Given the description of an element on the screen output the (x, y) to click on. 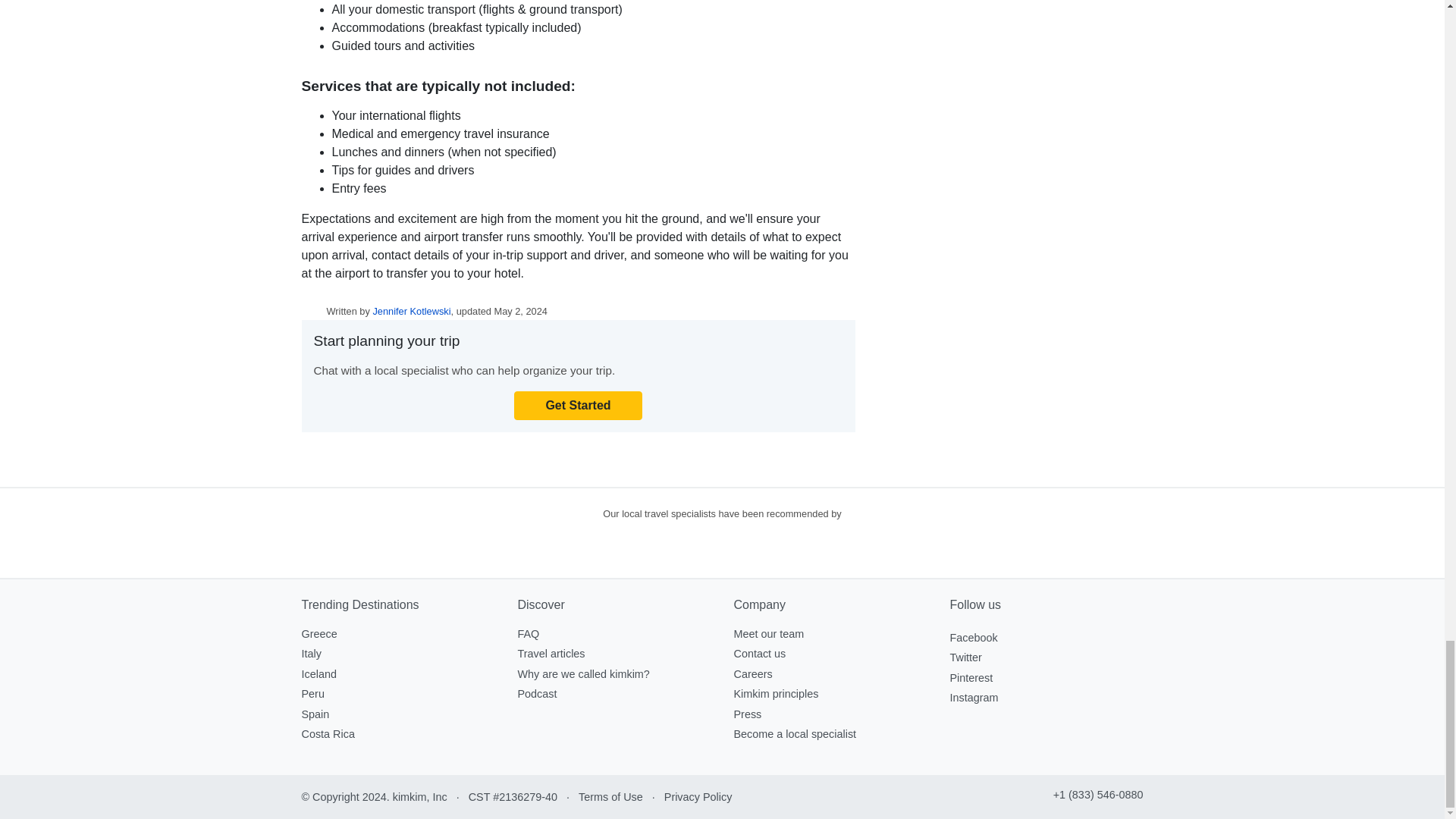
The story behind why we called ourselves 'kimkim' (582, 674)
Plan your trip to Greece (319, 633)
Plan your trip to Spain (315, 714)
Meet the team behind kimkim (769, 633)
Plan your trip to Costa Rica (328, 734)
Browse available job openings (753, 674)
Get in touch with us here (759, 653)
Plan your trip to Iceland (318, 674)
Plan your trip to Peru (312, 693)
kimkim travel podcasts (536, 693)
